Given the description of an element on the screen output the (x, y) to click on. 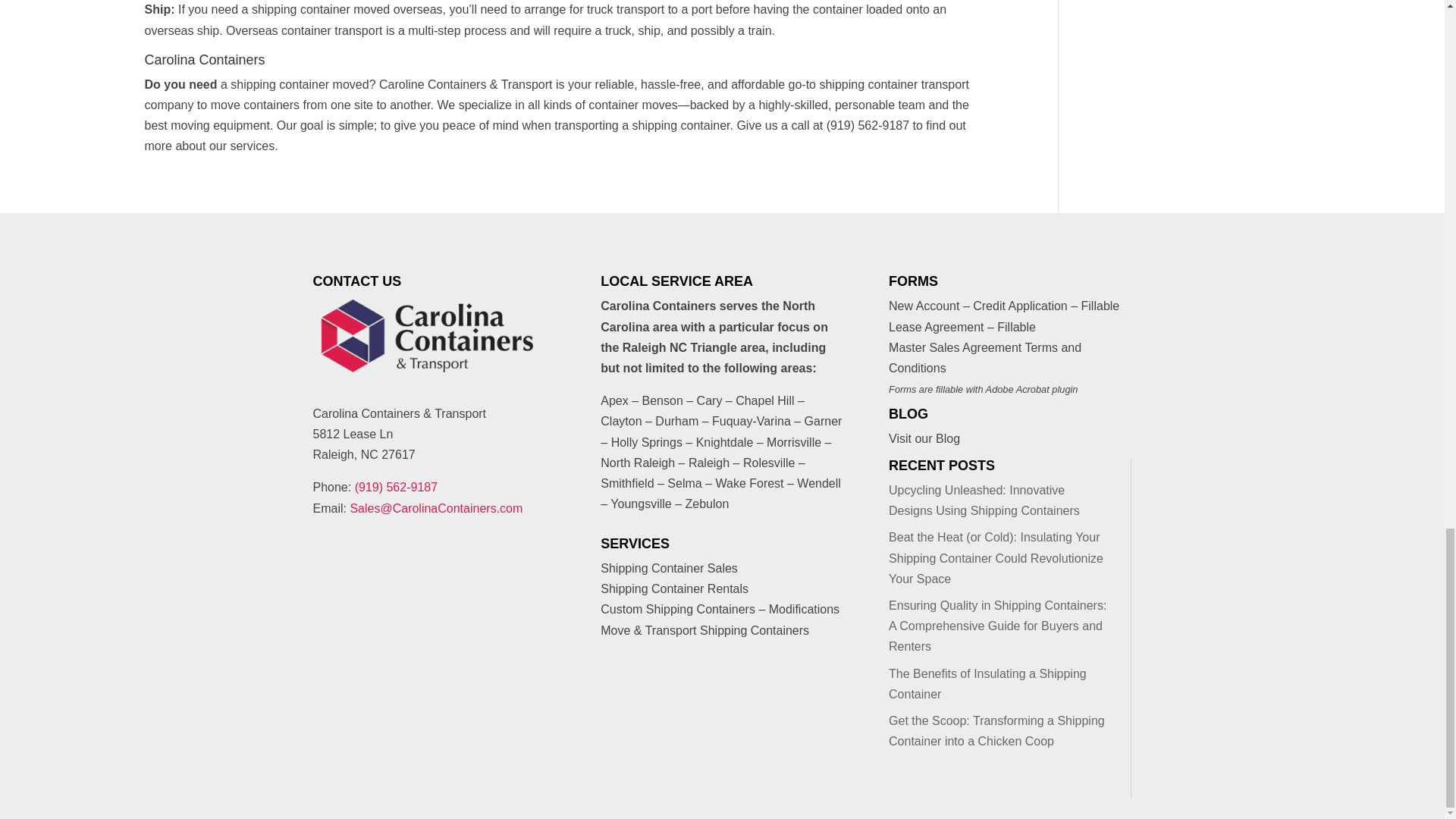
Wake Forest (748, 482)
Fuquay-Varina (750, 420)
Morrisville (794, 441)
Knightdale (724, 441)
Wendell (818, 482)
Shipping Container Rentals (673, 588)
areas (796, 367)
Apex (613, 400)
Garner (824, 420)
